Given the description of an element on the screen output the (x, y) to click on. 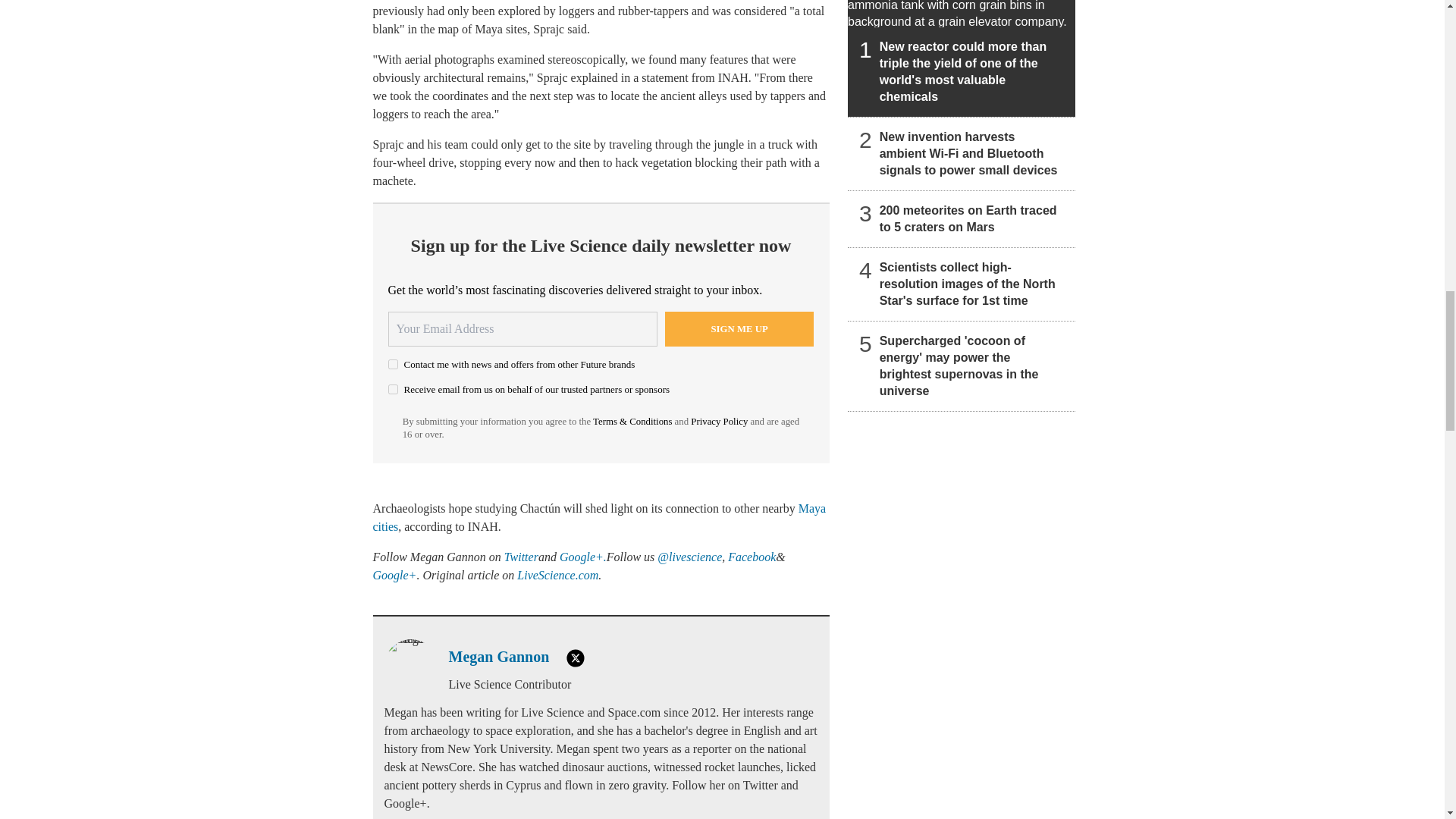
on (392, 364)
Sign me up (739, 329)
on (392, 388)
